Given the description of an element on the screen output the (x, y) to click on. 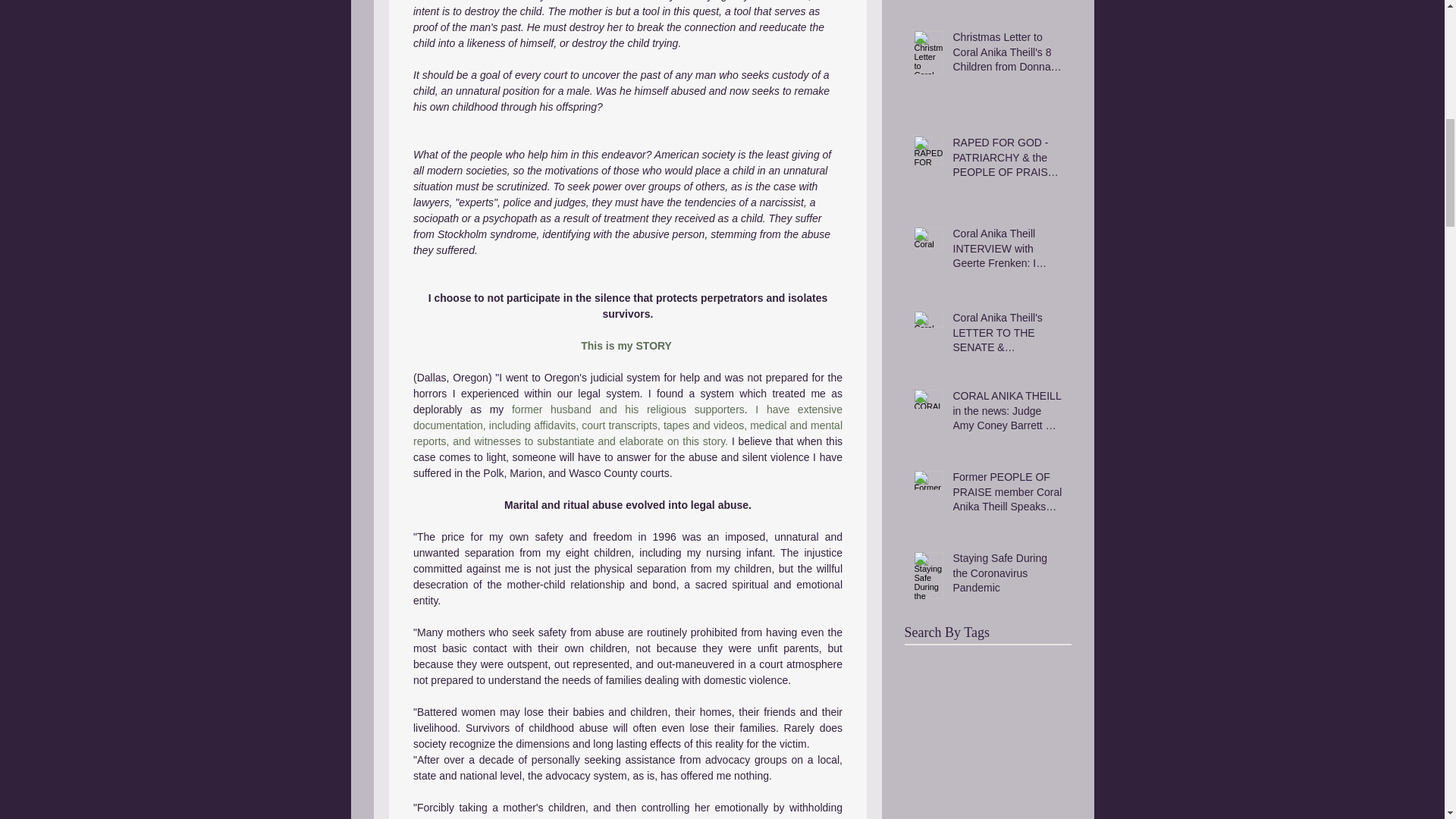
former husband and his religious supporters (627, 409)
This is my STORY (625, 345)
